Given the description of an element on the screen output the (x, y) to click on. 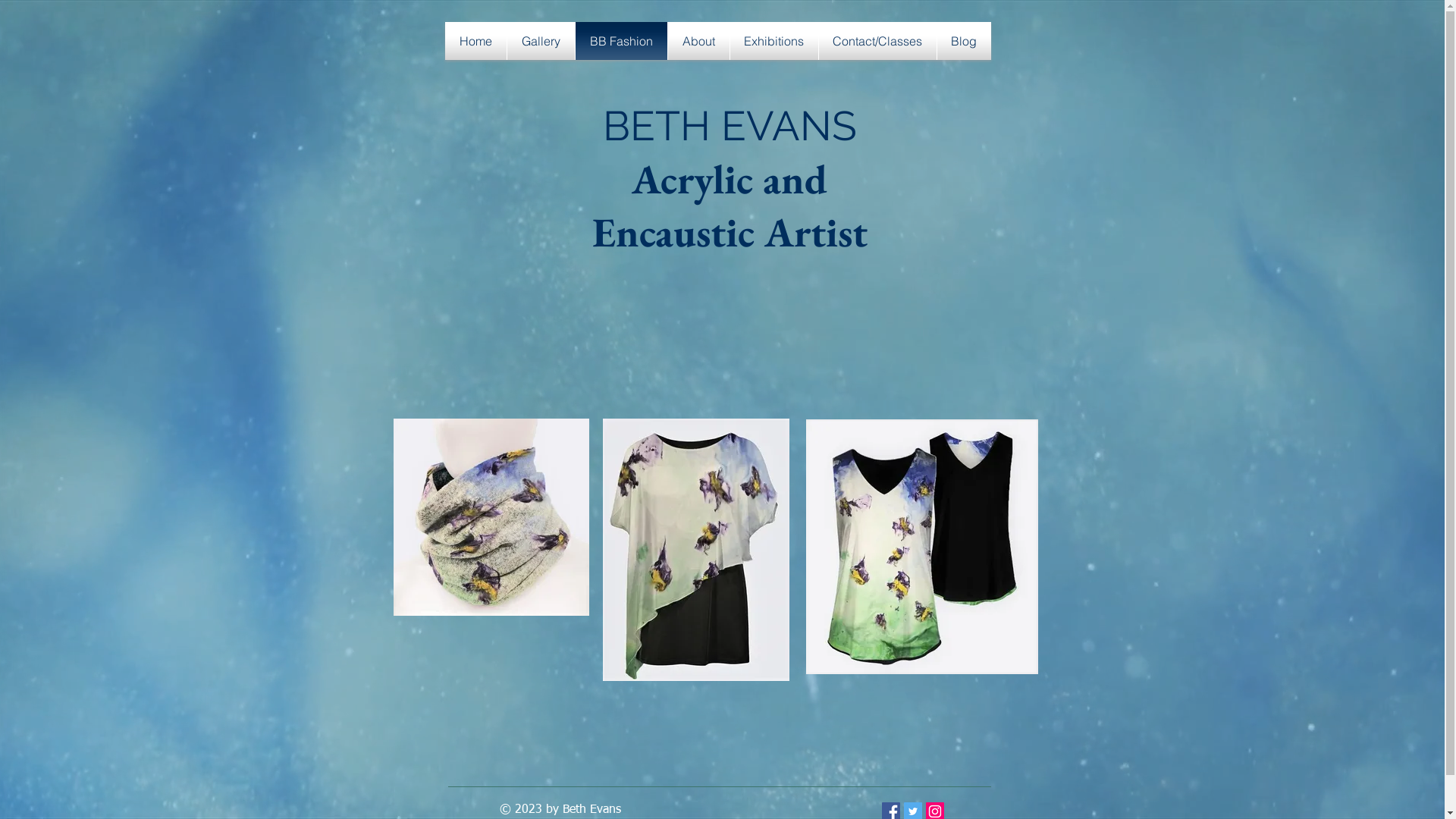
SF Tunic - Copy.jpg Element type: hover (695, 549)
Blog Element type: text (964, 40)
Gallery Element type: text (540, 40)
Contact/Classes Element type: text (877, 40)
BB Fashion Element type: text (620, 40)
SF Tube Scarf - Copy.jpg Element type: hover (490, 516)
About Element type: text (697, 40)
SF Sleeveless V neck - Copy.jpg Element type: hover (921, 546)
Exhibitions Element type: text (773, 40)
Home Element type: text (474, 40)
